Given the description of an element on the screen output the (x, y) to click on. 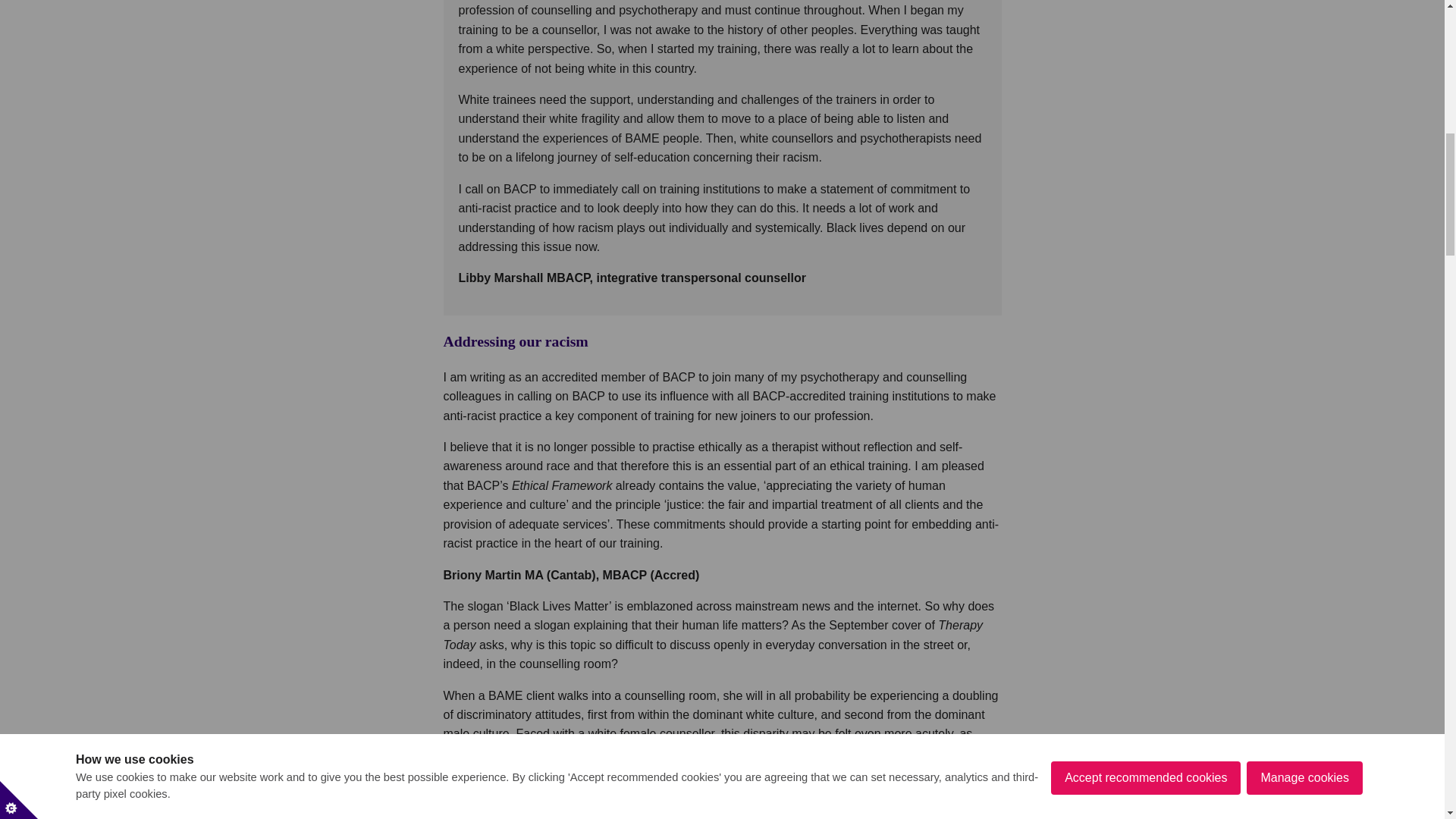
Manage cookies (1304, 17)
Accept recommended cookies (1145, 32)
